Given the description of an element on the screen output the (x, y) to click on. 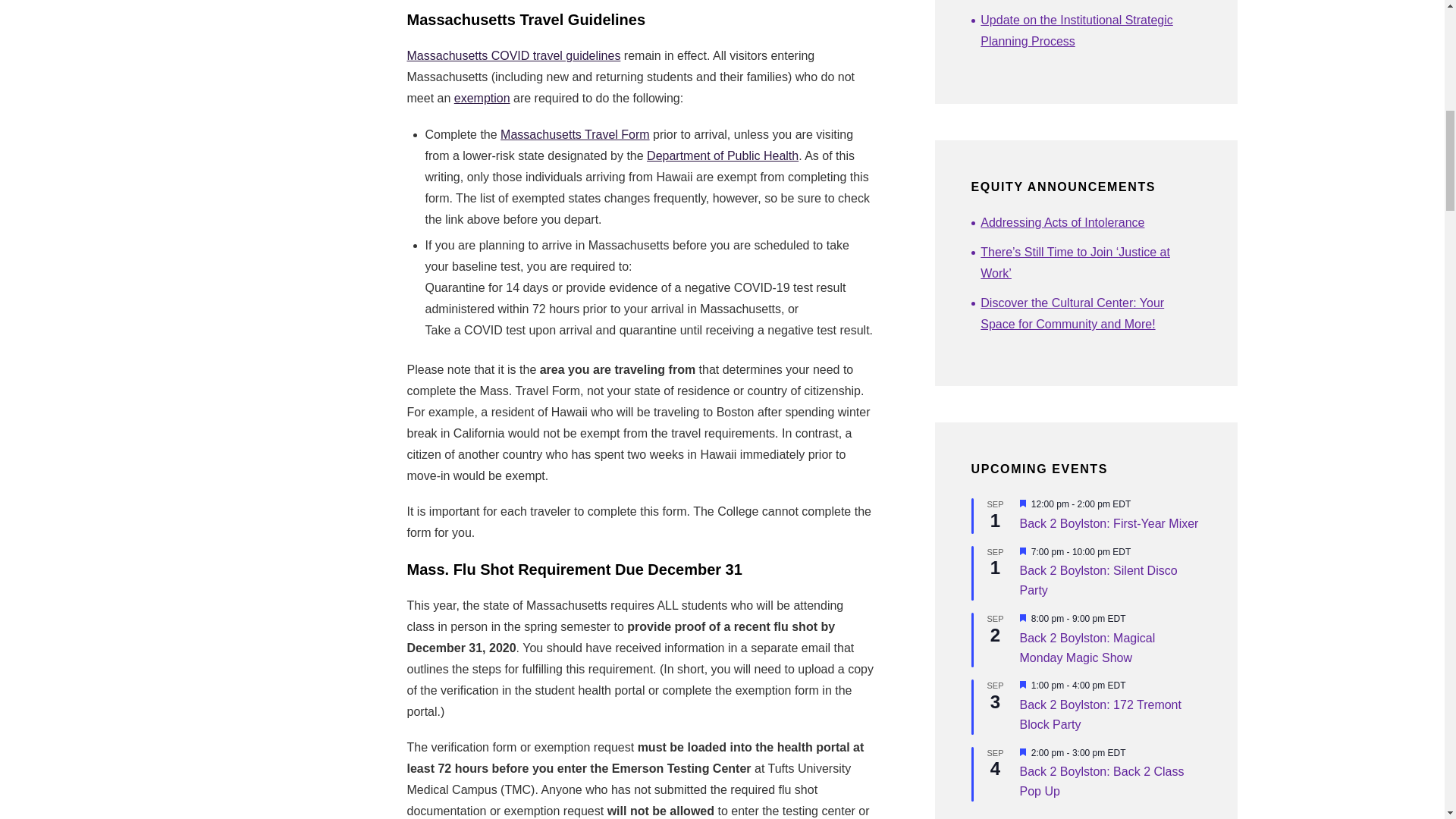
Massachusetts Travel Form (574, 133)
Department of Public Health (721, 154)
Back 2 Boylston: Back 2 Class Pop Up (1101, 781)
Back 2 Boylston: Silent Disco Party (1097, 580)
Back 2 Boylston: 172 Tremont Block Party (1099, 715)
Back 2 Boylston: Magical Monday Magic Show (1086, 648)
exemption (482, 97)
Massachusetts COVID travel guidelines (513, 55)
Back 2 Boylston: First-Year Mixer (1108, 523)
